Given the description of an element on the screen output the (x, y) to click on. 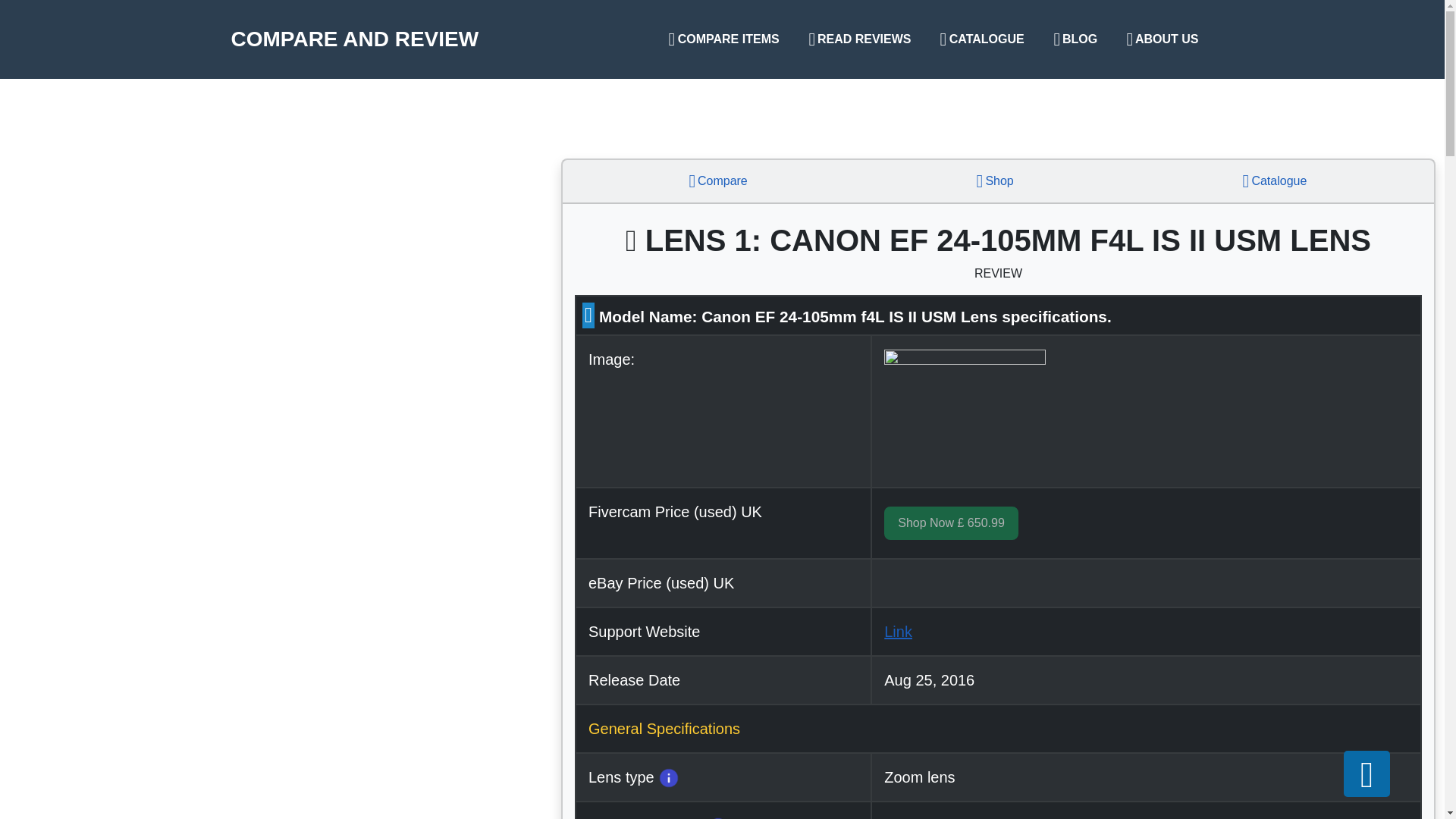
ABOUT US (1162, 39)
COMPARE ITEMS (724, 39)
BLOG (1075, 39)
CATALOGUE (981, 39)
READ REVIEWS (860, 39)
COMPARE AND REVIEW (354, 38)
